Given the description of an element on the screen output the (x, y) to click on. 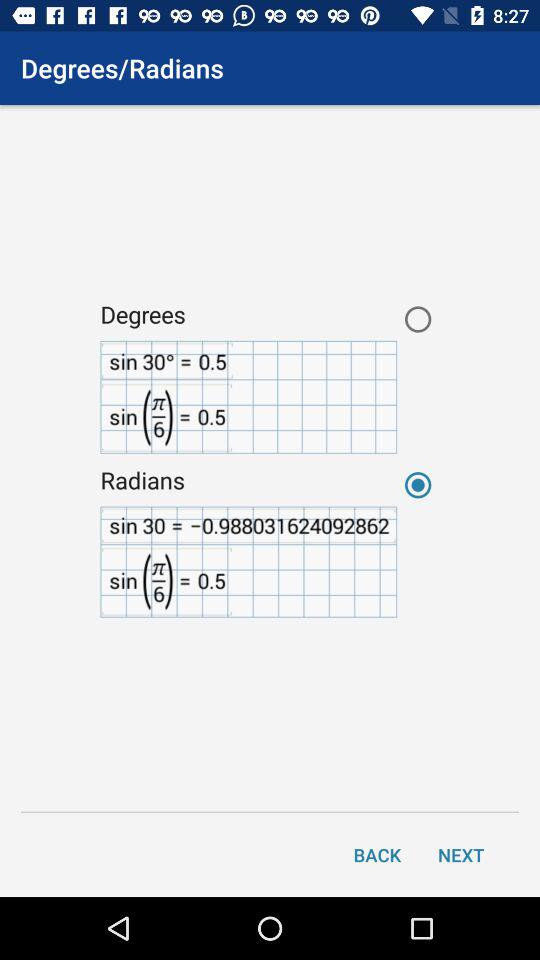
press the icon next to the next (377, 854)
